Given the description of an element on the screen output the (x, y) to click on. 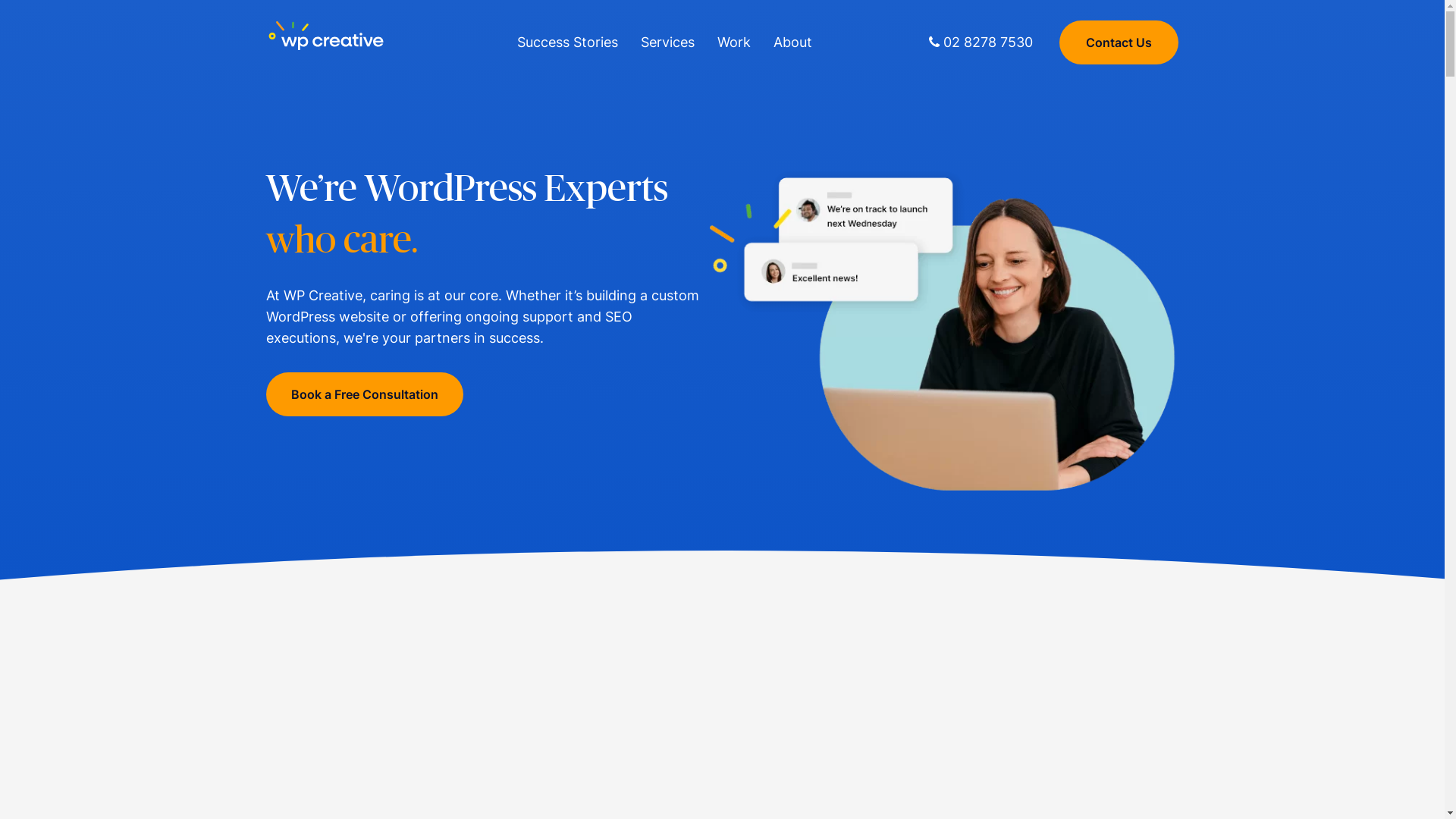
02 8278 7530 Element type: text (980, 41)
About Element type: text (792, 42)
Work Element type: text (733, 42)
Contact Us Element type: text (1118, 41)
Success Stories Element type: text (567, 42)
Book a Free Consultation Element type: text (364, 394)
Services Element type: text (666, 42)
